Given the description of an element on the screen output the (x, y) to click on. 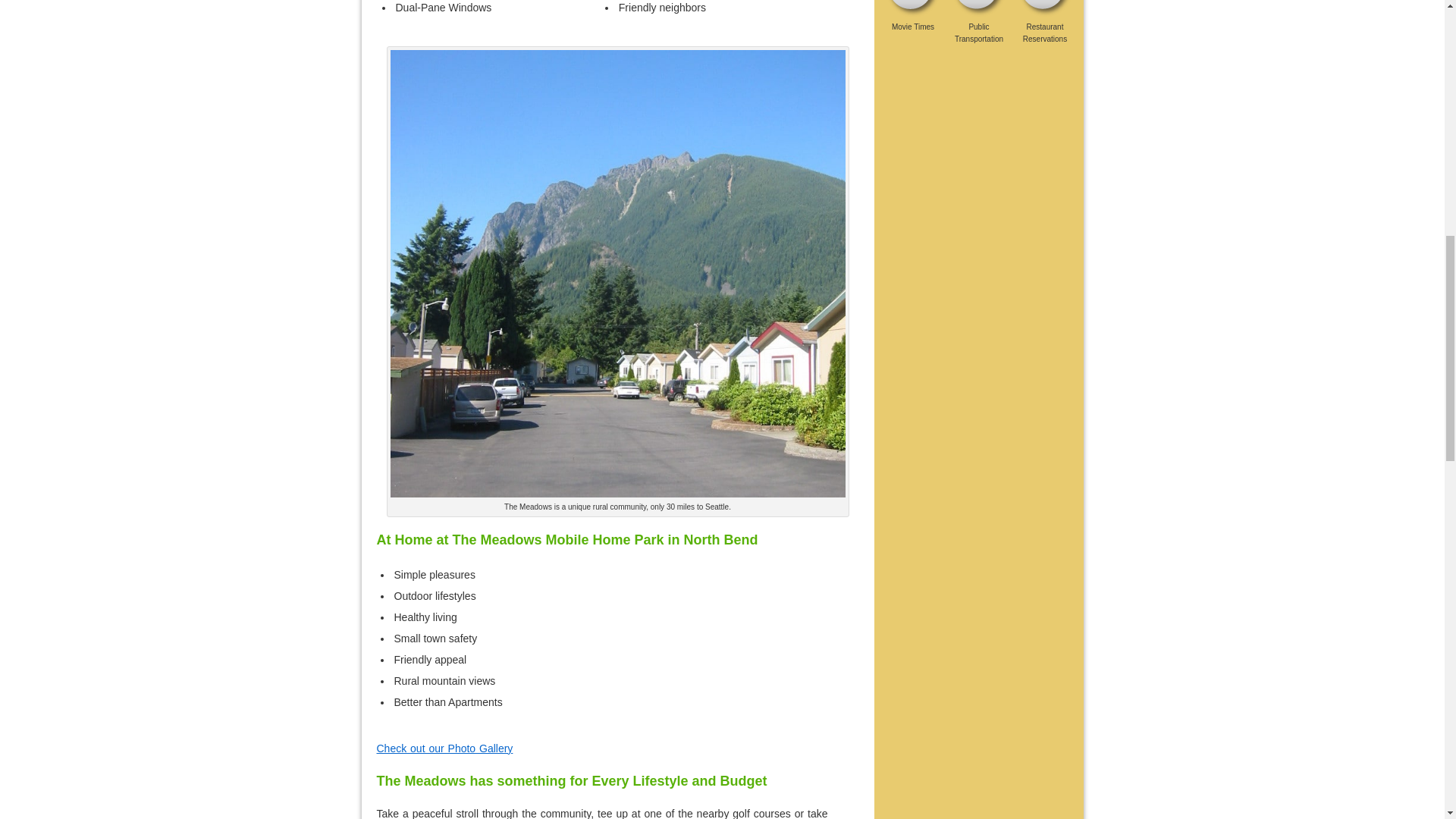
Check out our Photo Gallery (443, 748)
Movie Times (912, 20)
